Given the description of an element on the screen output the (x, y) to click on. 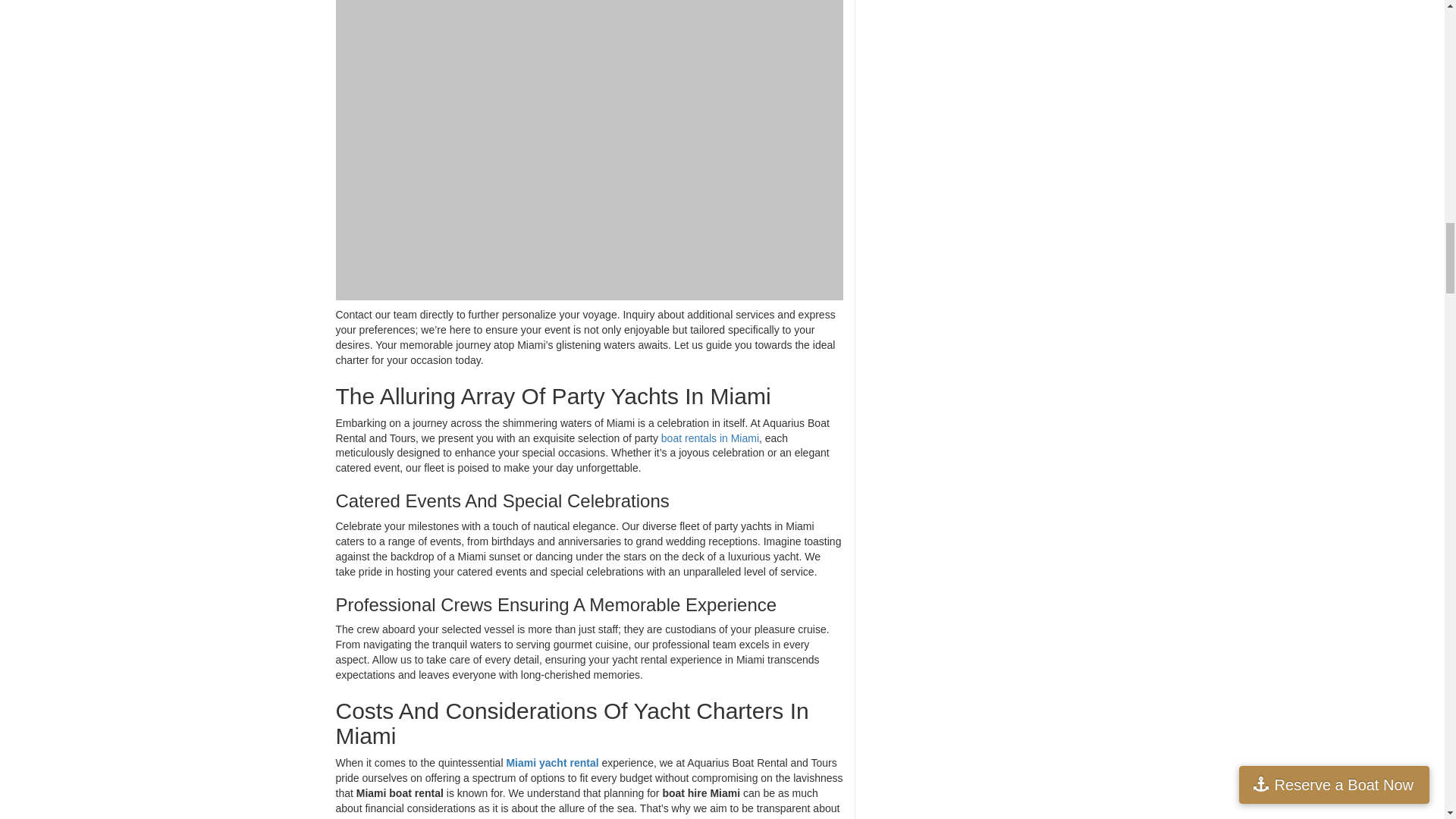
Miami yacht rentals (551, 762)
boat rentals in Miami (709, 438)
